Given the description of an element on the screen output the (x, y) to click on. 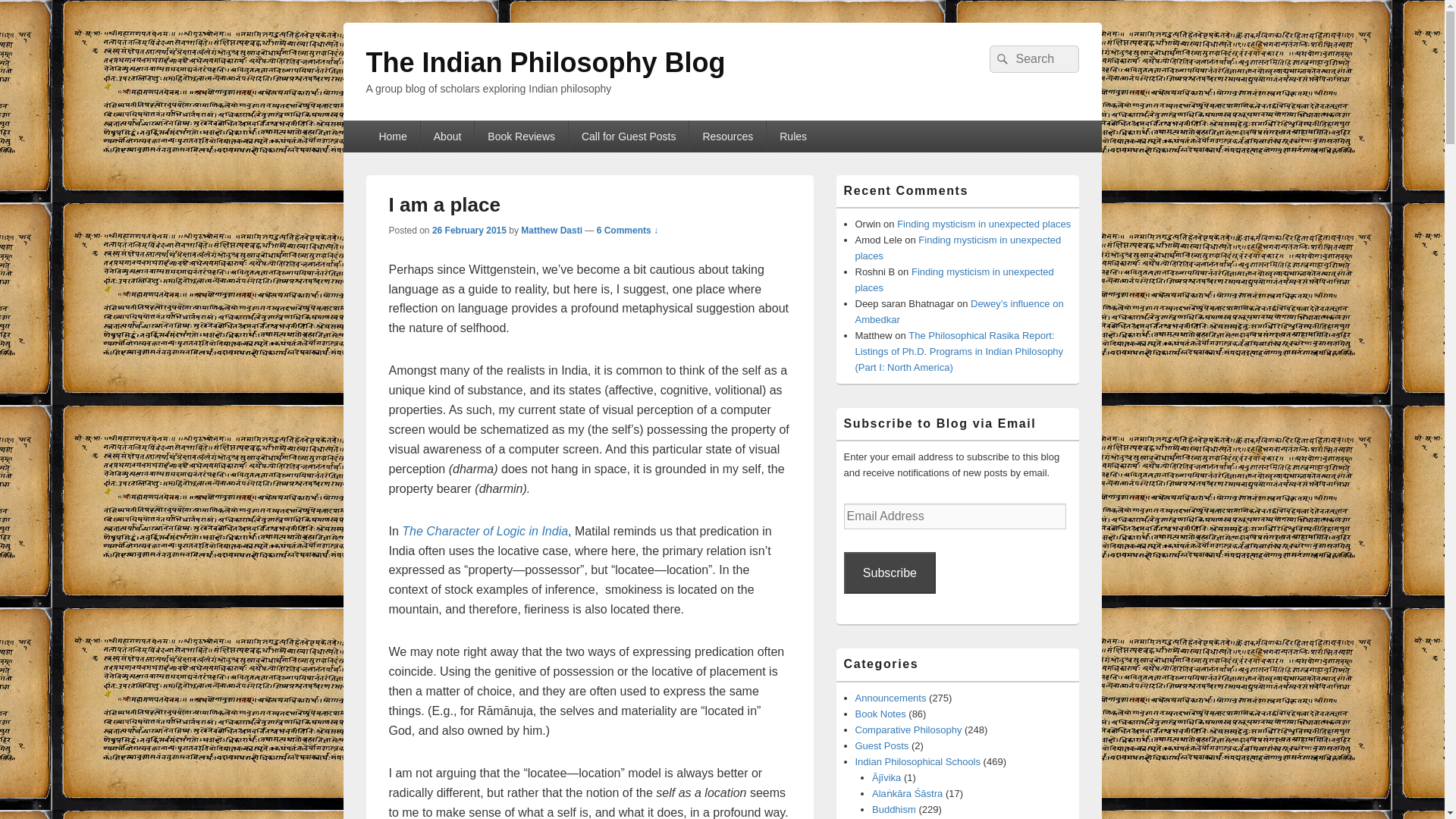
Home (392, 136)
The Character of Logic in India (484, 530)
Search for: (1033, 58)
About (447, 136)
Call for Guest Posts (628, 136)
The Indian Philosophy Blog (545, 61)
7:33 pm (469, 230)
26 February 2015 (469, 230)
View all posts by Matthew Dasti (551, 230)
Book Reviews (520, 136)
